Given the description of an element on the screen output the (x, y) to click on. 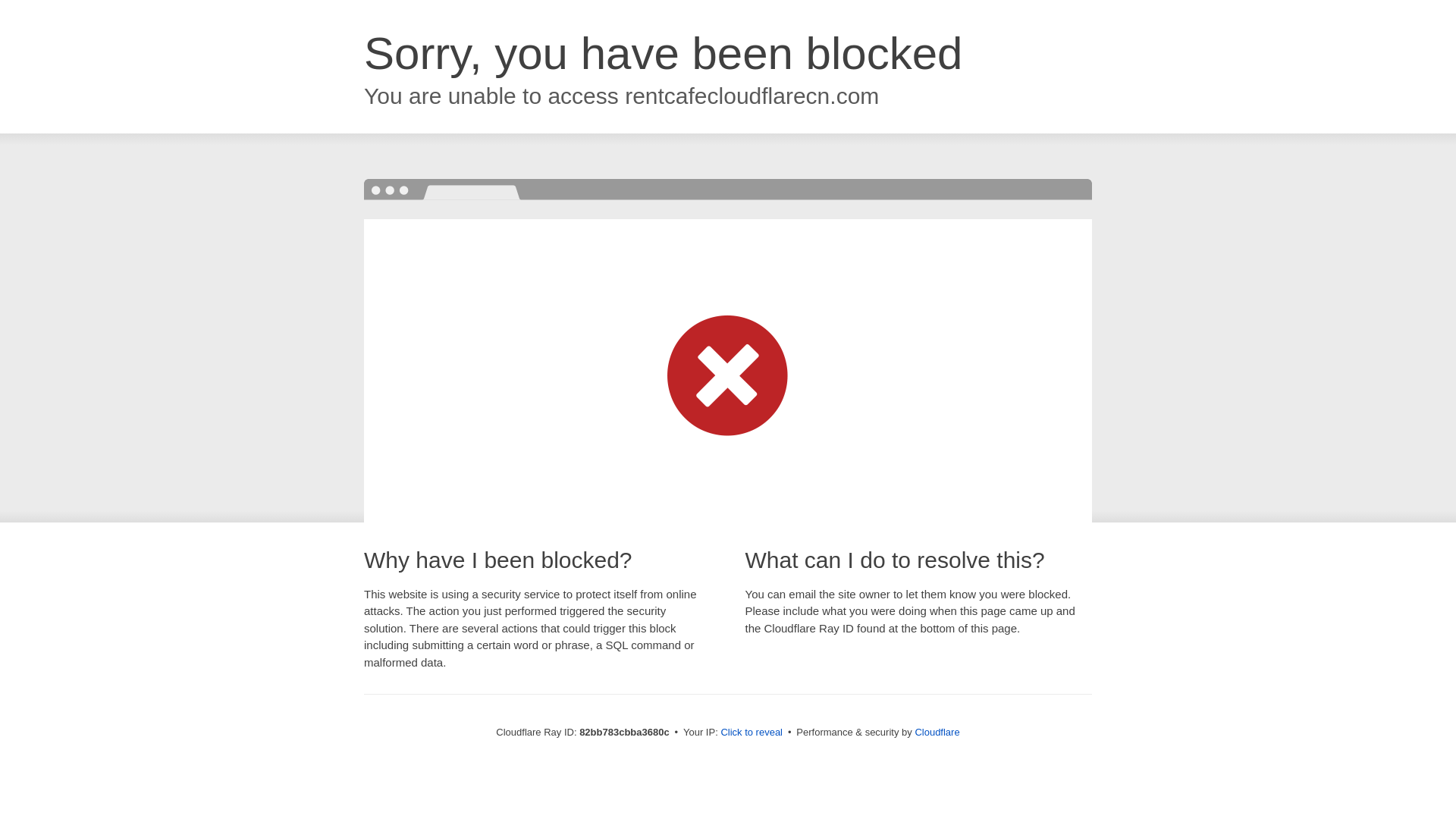
Click to reveal Element type: text (751, 732)
Cloudflare Element type: text (936, 731)
